Given the description of an element on the screen output the (x, y) to click on. 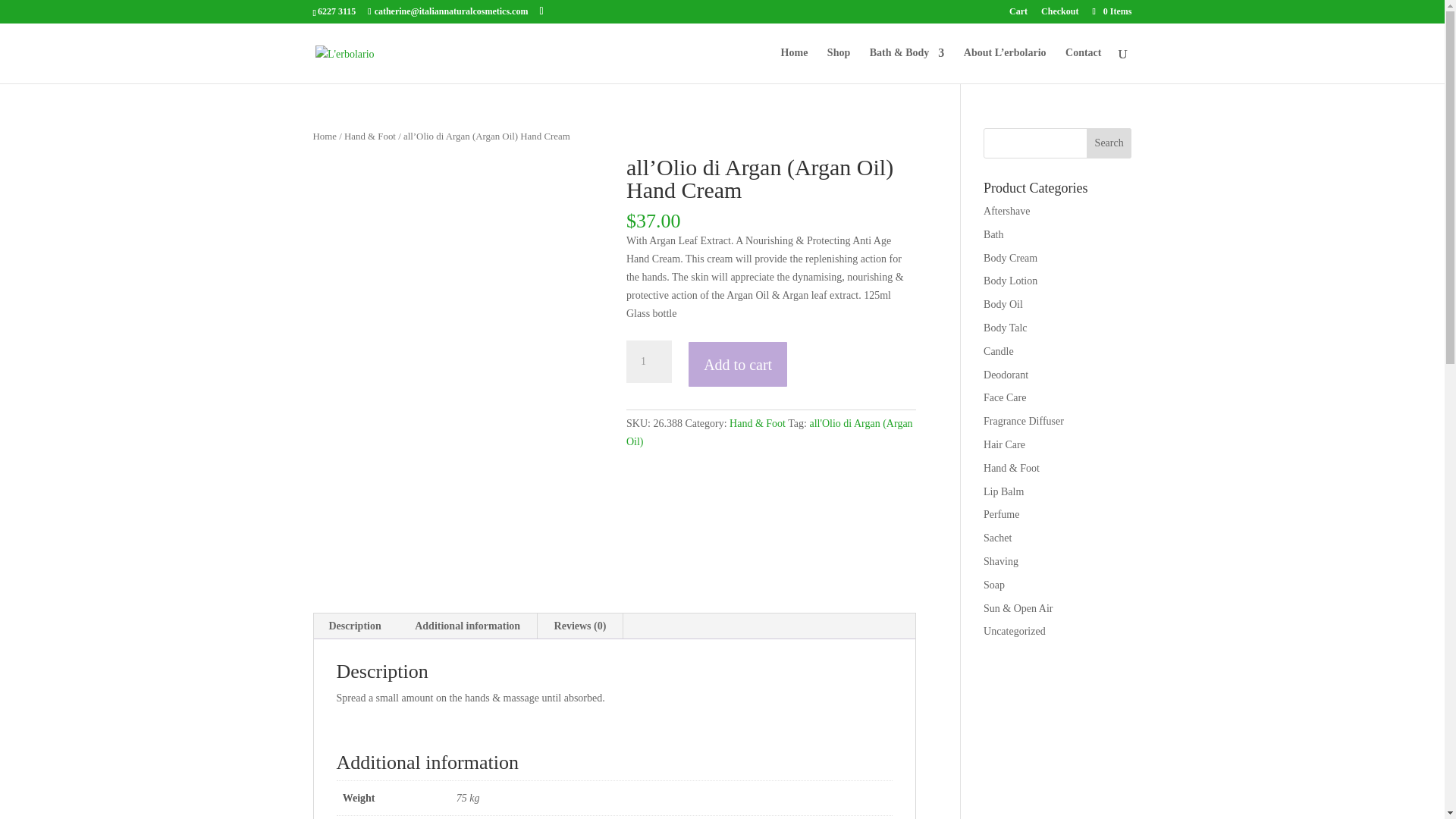
Add to cart (738, 364)
Checkout (1059, 14)
0 Items (1110, 10)
Contact (1082, 65)
Description (355, 626)
6227 3115 (336, 10)
Home (794, 65)
Shop (838, 65)
Home (324, 136)
1 (648, 361)
Additional information (467, 626)
Cart (1018, 14)
Search (1109, 142)
